Given the description of an element on the screen output the (x, y) to click on. 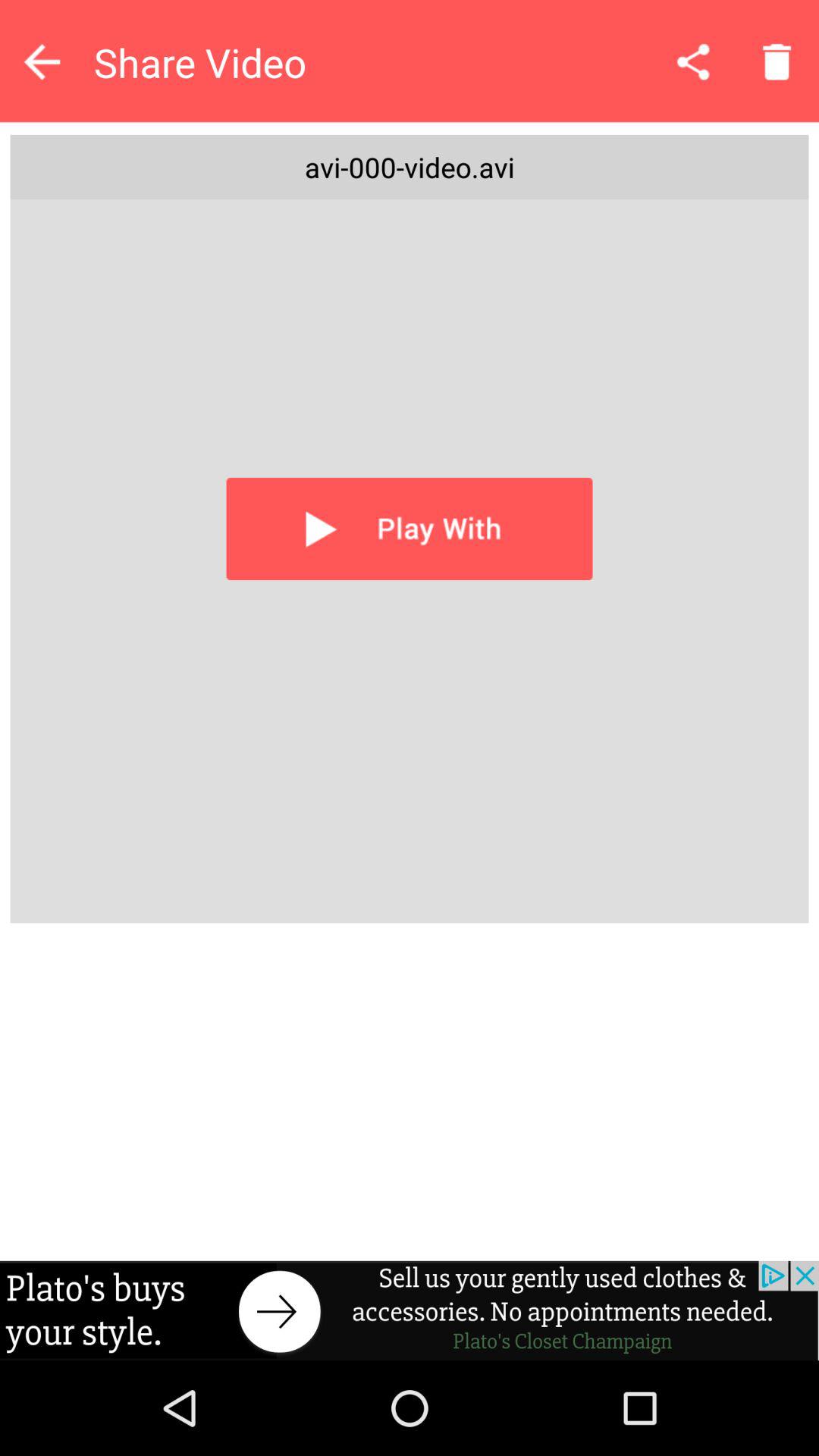
play with (409, 528)
